Given the description of an element on the screen output the (x, y) to click on. 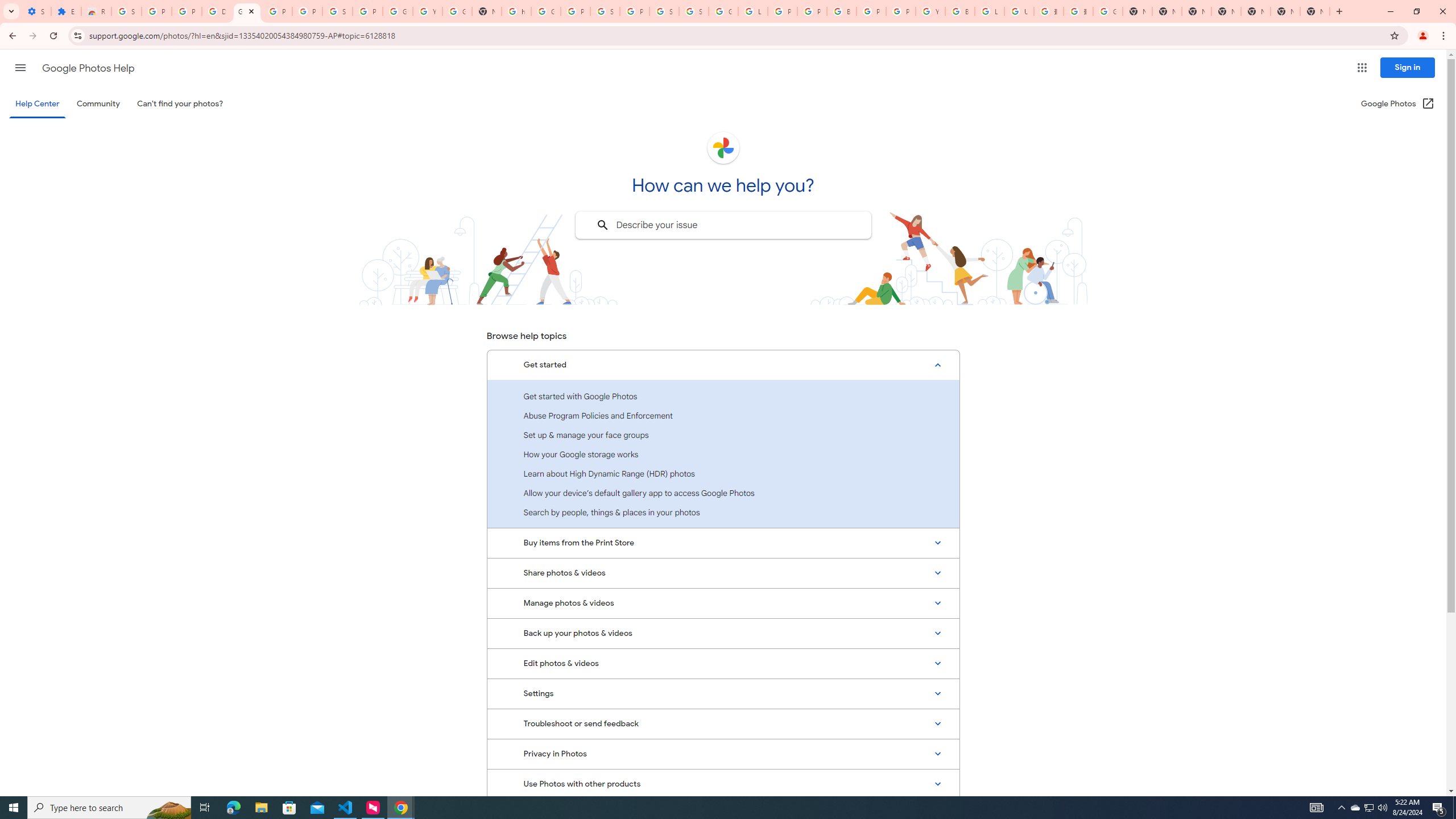
Sign in - Google Accounts (337, 11)
Settings (722, 693)
Describe your issue to find information that might help you. (722, 225)
Google Photos Help (87, 68)
How your Google storage works (722, 454)
Manage photos & videos (722, 603)
New Tab (1314, 11)
